Given the description of an element on the screen output the (x, y) to click on. 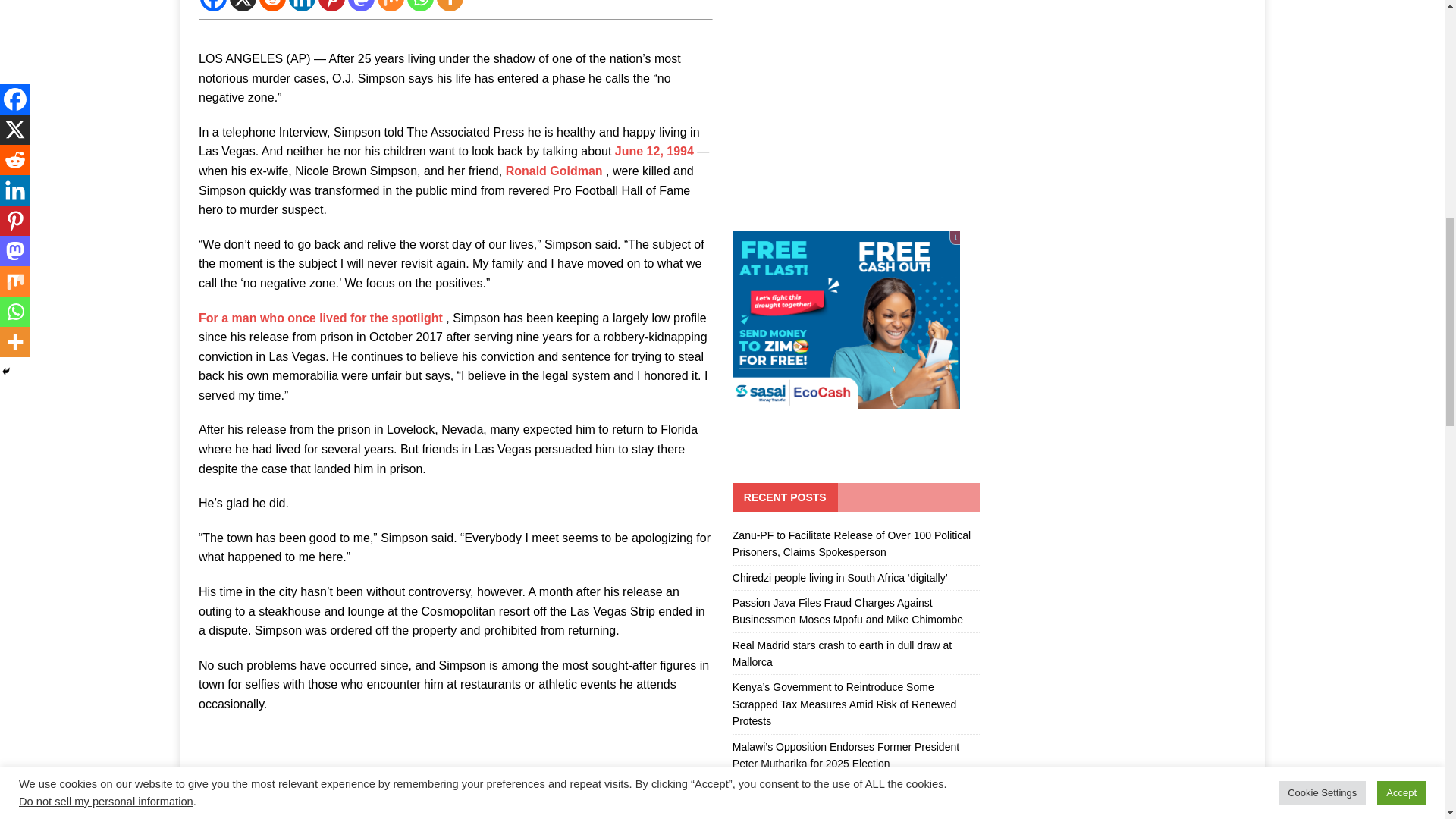
Reddit (272, 5)
Linkedin (301, 5)
X (243, 5)
Mastodon (360, 5)
Facebook (213, 5)
Whatsapp (420, 5)
Mix (390, 5)
Pinterest (331, 5)
